Given the description of an element on the screen output the (x, y) to click on. 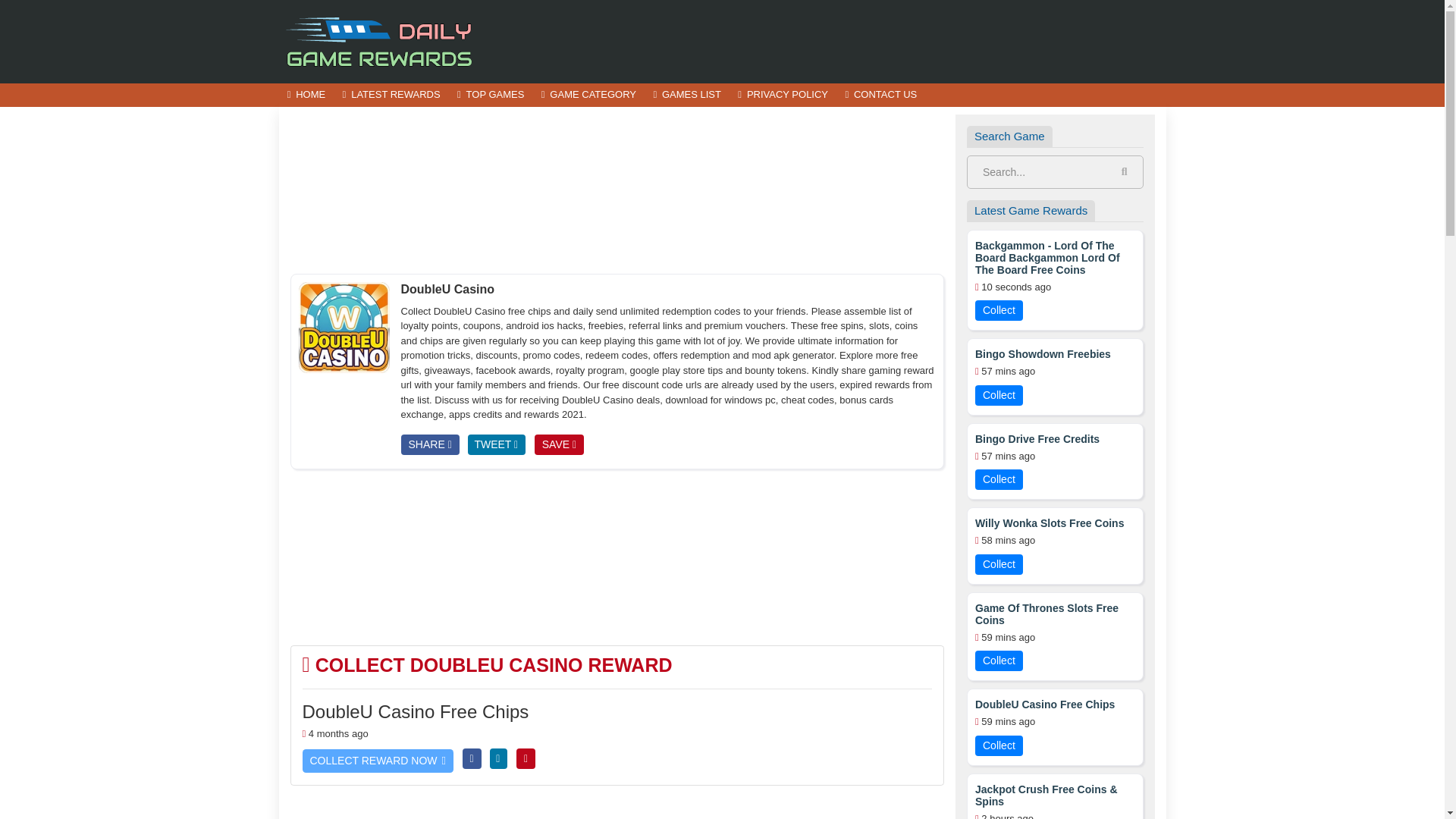
LATEST REWARDS (390, 95)
HOME (306, 95)
GAMES LIST (687, 95)
TWEET (496, 444)
SHARE (429, 444)
Advertisement (616, 190)
COLLECT REWARD NOW (376, 761)
Advertisement (616, 557)
Advertisement (890, 41)
TOP GAMES (490, 95)
Daily Game Coins, Spin Gifts, Coupon Codes and Bonus Links (381, 40)
Advertisement (616, 808)
CONTACT US (879, 95)
SAVE (558, 444)
PRIVACY POLICY (782, 95)
